Given the description of an element on the screen output the (x, y) to click on. 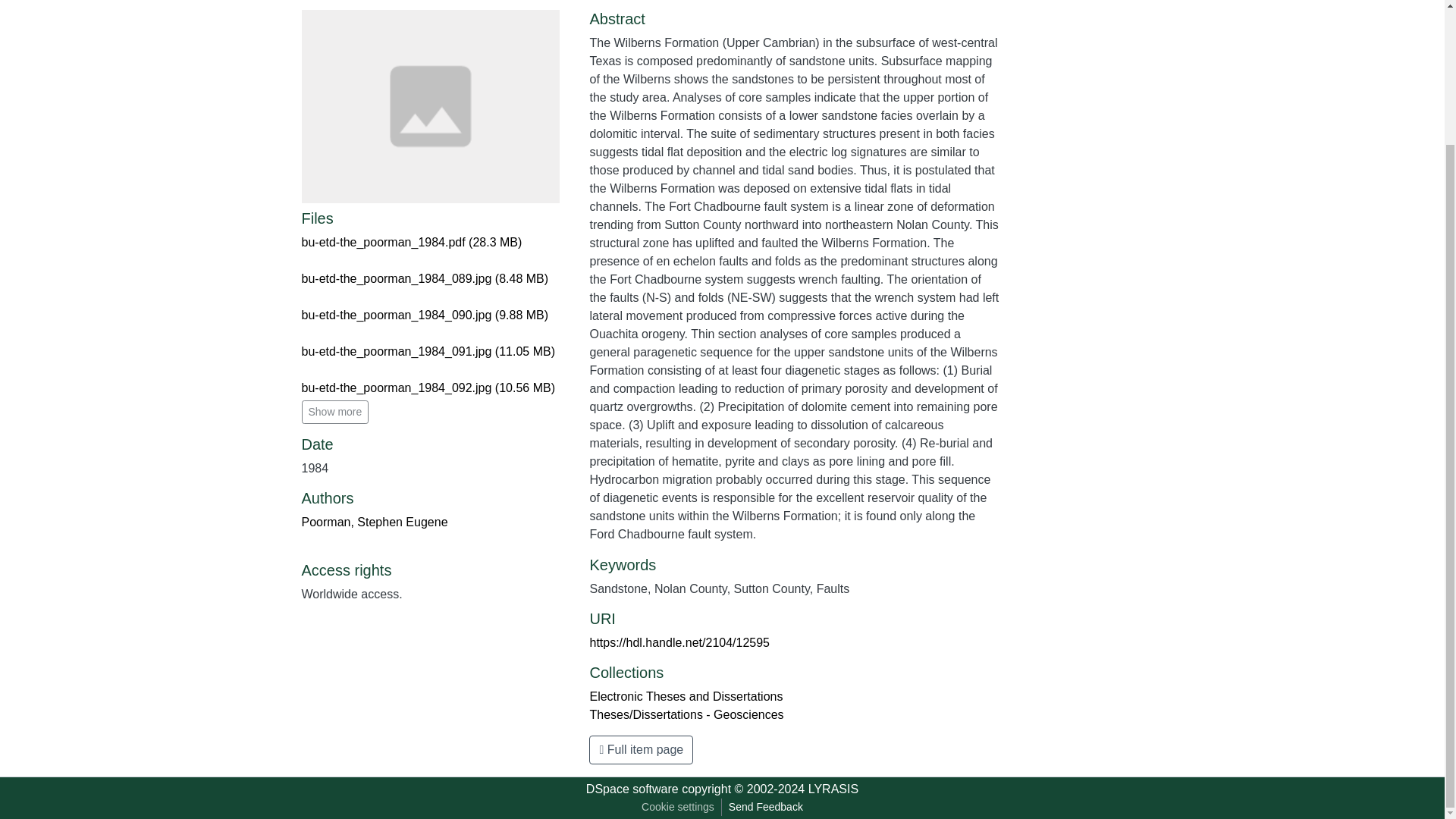
Send Feedback (765, 806)
Cookie settings (677, 806)
DSpace software (632, 788)
Electronic Theses and Dissertations (686, 696)
Show more (335, 412)
Poorman, Stephen Eugene (374, 521)
LYRASIS (833, 788)
Full item page (641, 749)
